Given the description of an element on the screen output the (x, y) to click on. 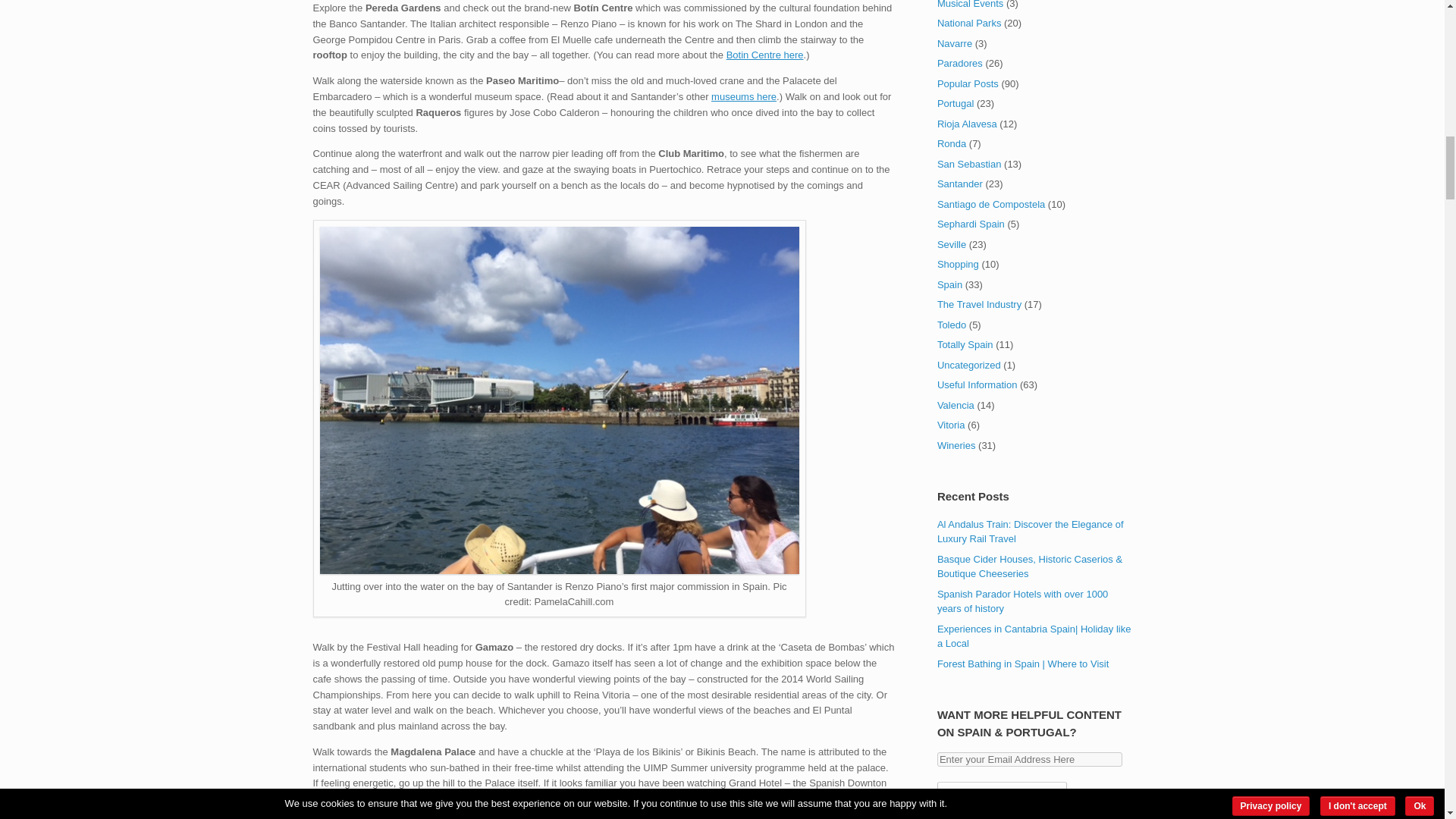
Give Me Great Content (1002, 796)
Botin Centre here (764, 54)
museums here (743, 96)
Santander City  (559, 570)
